Given the description of an element on the screen output the (x, y) to click on. 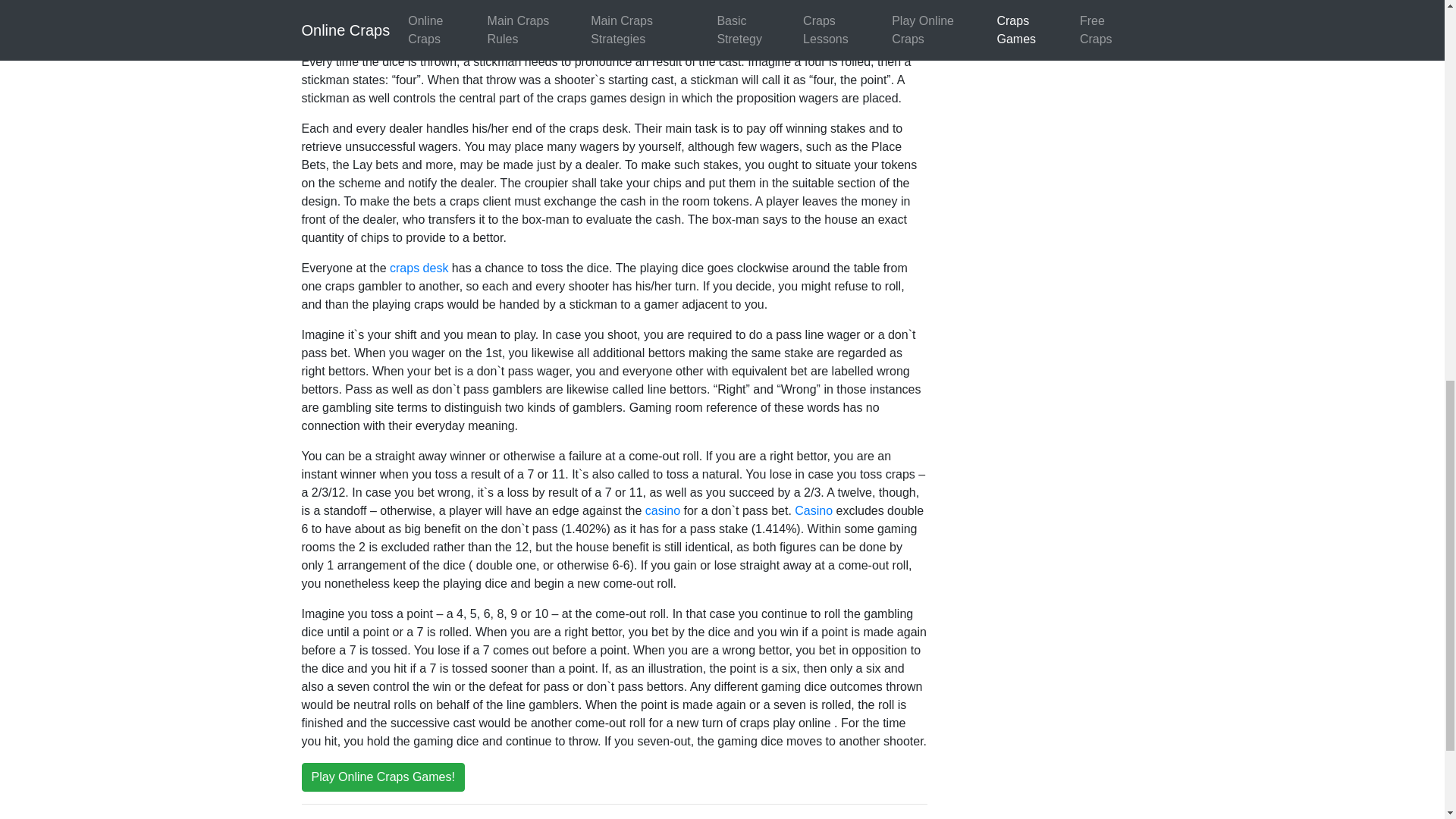
craps desk (419, 267)
Play Online Craps Games! (382, 776)
Casino (812, 510)
casino (662, 510)
